Given the description of an element on the screen output the (x, y) to click on. 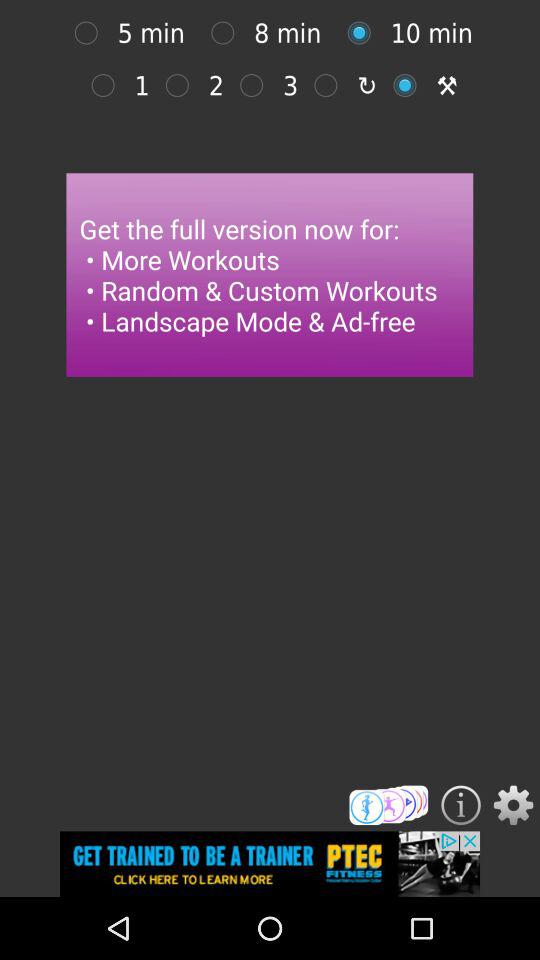
option selection (227, 32)
